Given the description of an element on the screen output the (x, y) to click on. 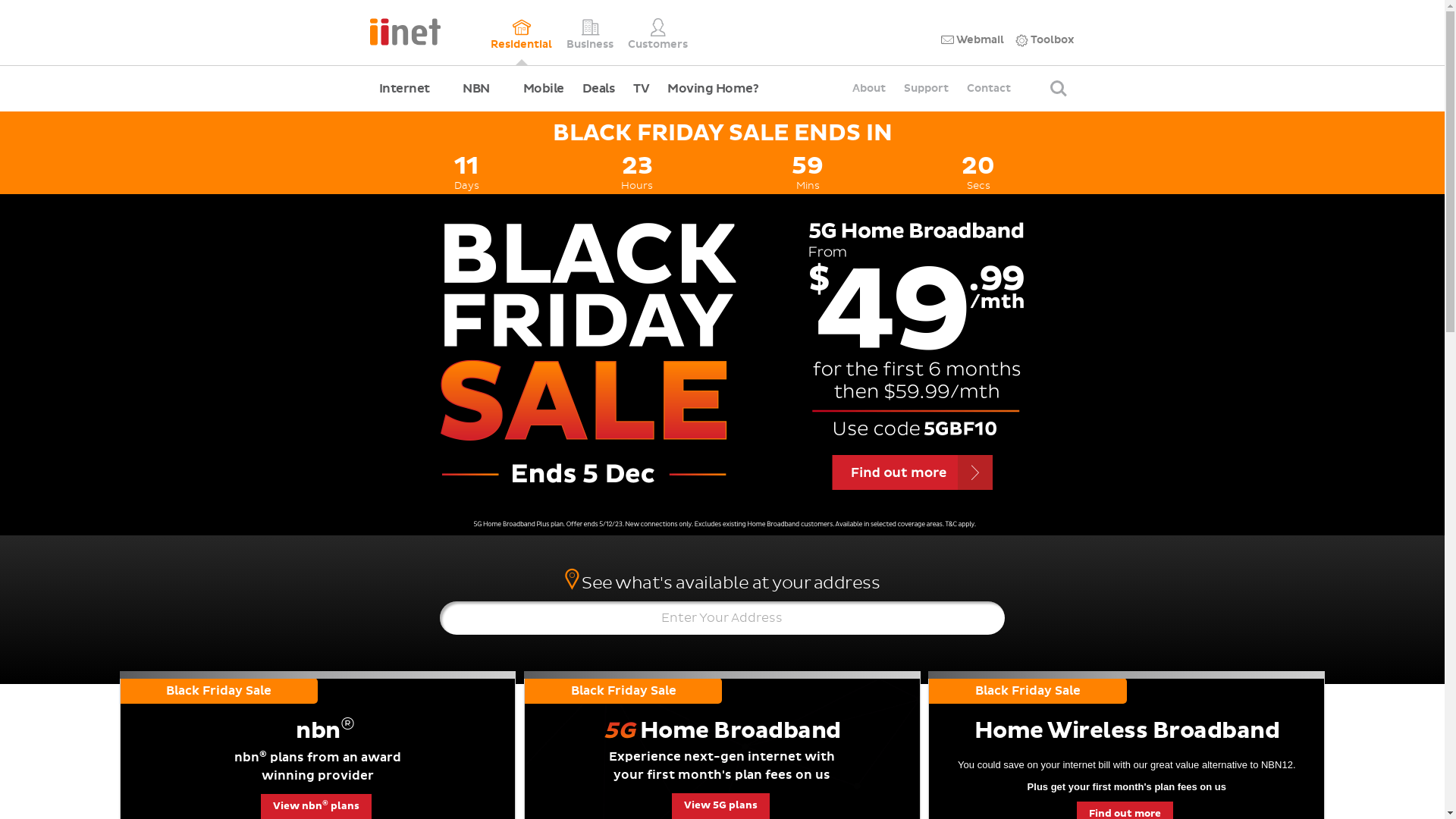
Internet Element type: text (412, 88)
Customers Element type: text (657, 32)
Mobile Element type: text (543, 88)
Toolbox Element type: text (1044, 40)
Contact Element type: text (988, 88)
Skip to main content Element type: text (0, 0)
iiNet logo Element type: hover (405, 30)
Business Element type: text (589, 32)
Deals Element type: text (598, 88)
NBN Element type: text (483, 88)
TV Element type: text (641, 88)
Webmail Element type: text (972, 40)
Support Element type: text (925, 88)
Residential Element type: text (521, 32)
Moving Home? Element type: text (712, 88)
About Element type: text (868, 88)
